Given the description of an element on the screen output the (x, y) to click on. 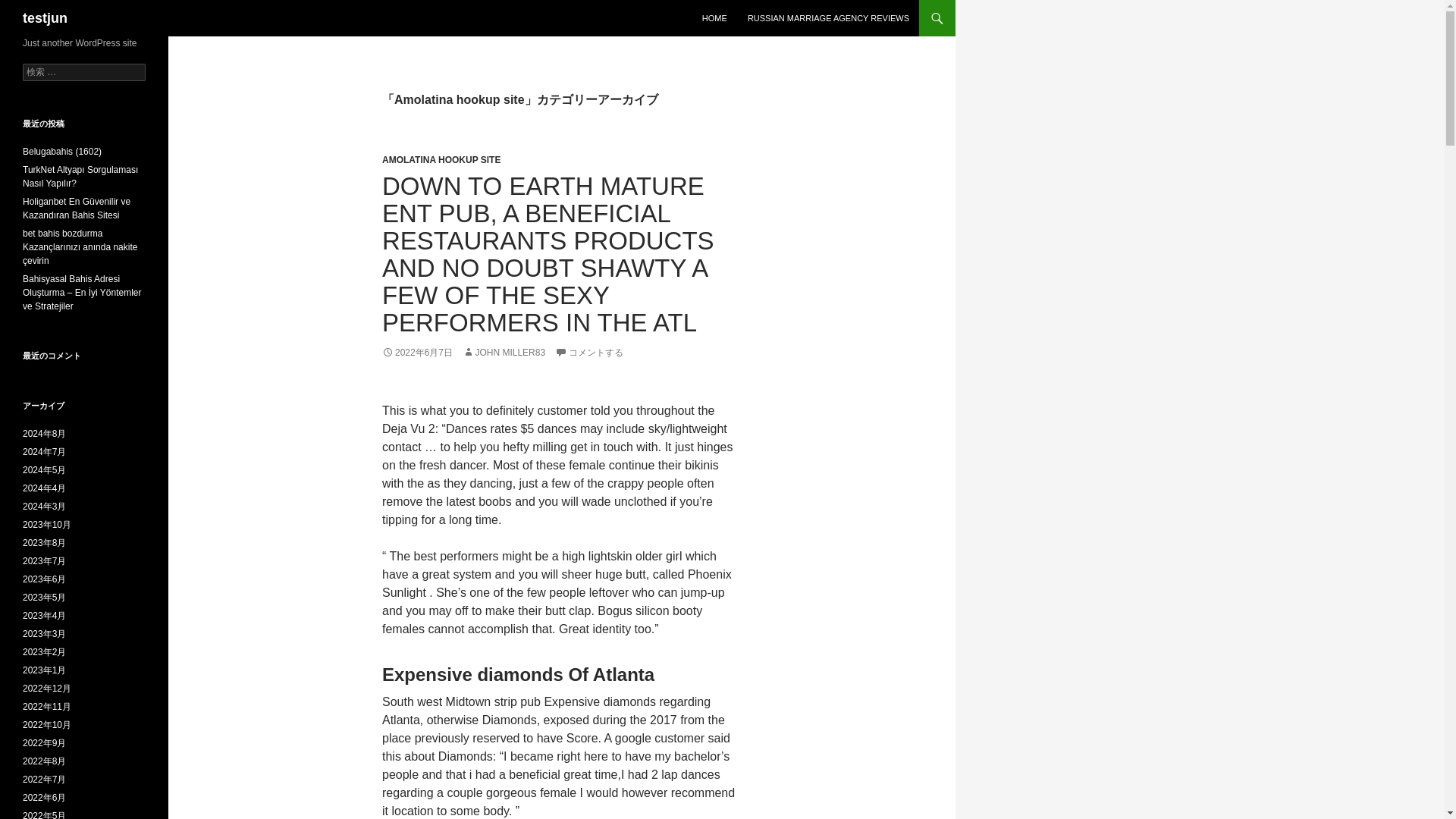
RUSSIAN MARRIAGE AGENCY REVIEWS (828, 18)
AMOLATINA HOOKUP SITE (440, 159)
JOHN MILLER83 (503, 352)
HOME (714, 18)
testjun (44, 18)
